Given the description of an element on the screen output the (x, y) to click on. 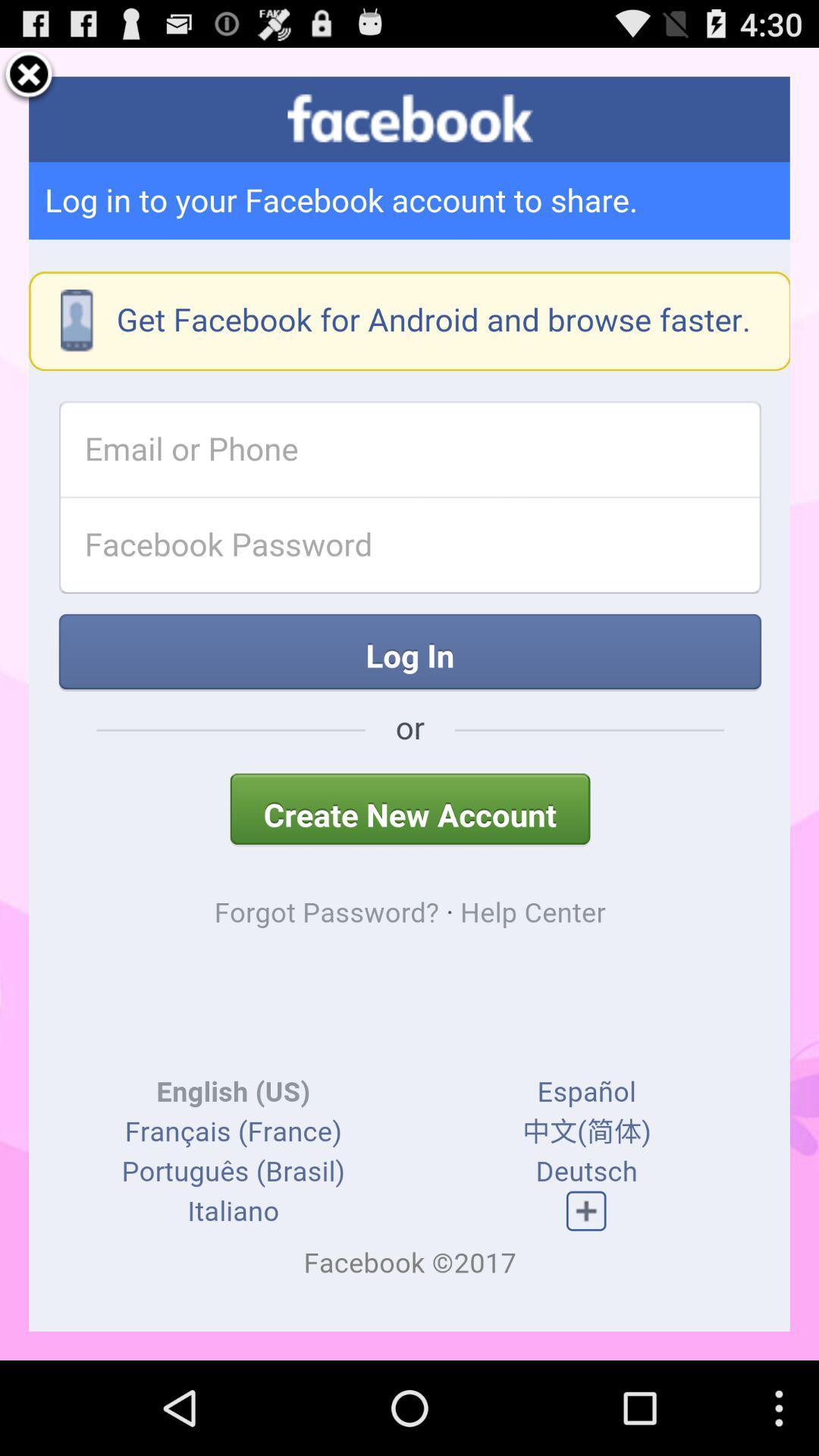
to close (29, 76)
